Given the description of an element on the screen output the (x, y) to click on. 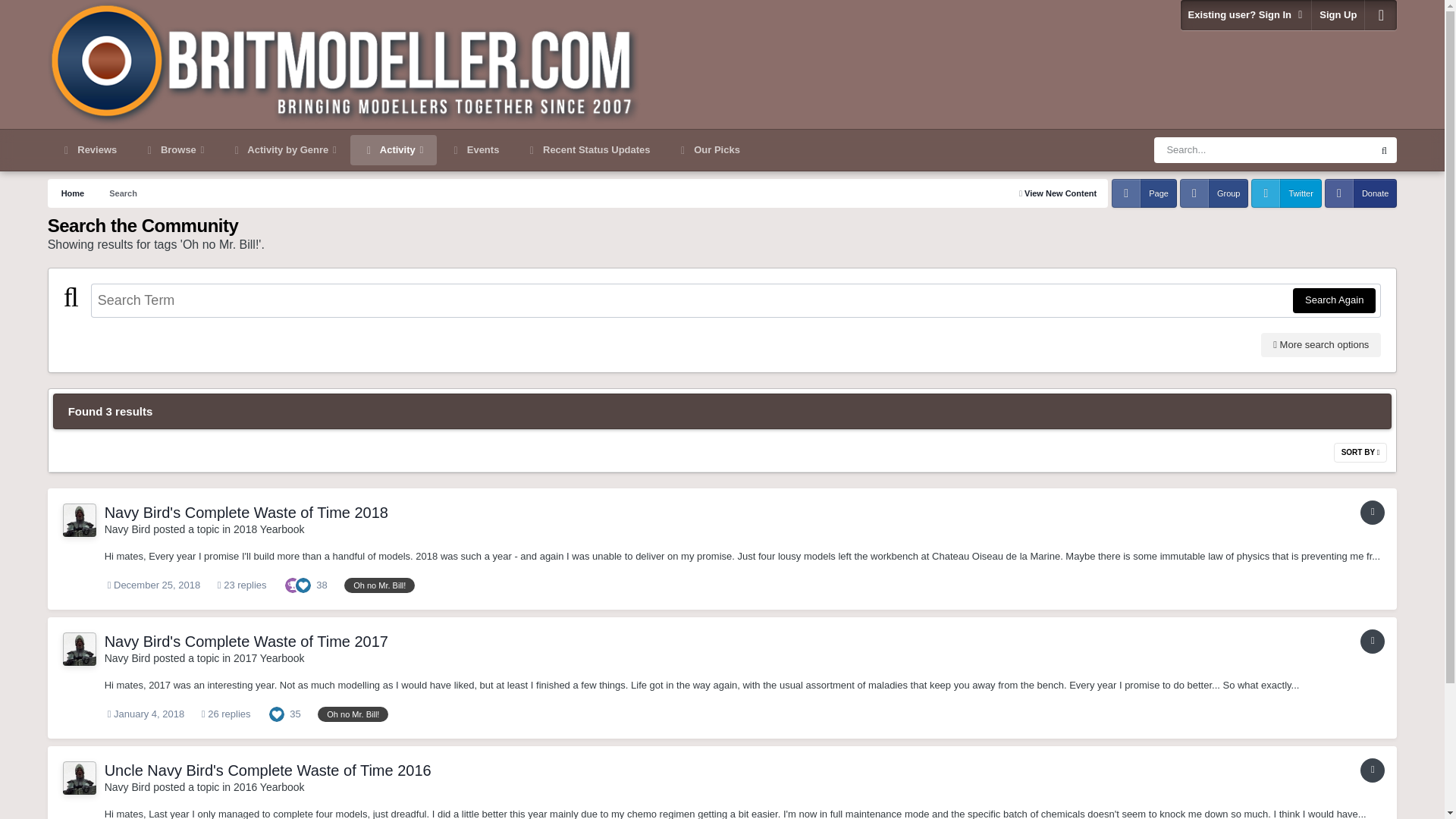
Like (276, 713)
Sign Up (1337, 15)
Activity by Genre (282, 150)
Topic (1371, 770)
Customizer (1380, 15)
Go to Navy Bird's profile (79, 520)
Go to Navy Bird's profile (127, 529)
Topic (1371, 512)
Events (474, 150)
Go to Navy Bird's profile (127, 657)
Our Picks (708, 150)
Go to Navy Bird's profile (79, 648)
Reviews (89, 150)
Find other content tagged with 'Oh no Mr. Bill!' (352, 713)
Browse (173, 150)
